Given the description of an element on the screen output the (x, y) to click on. 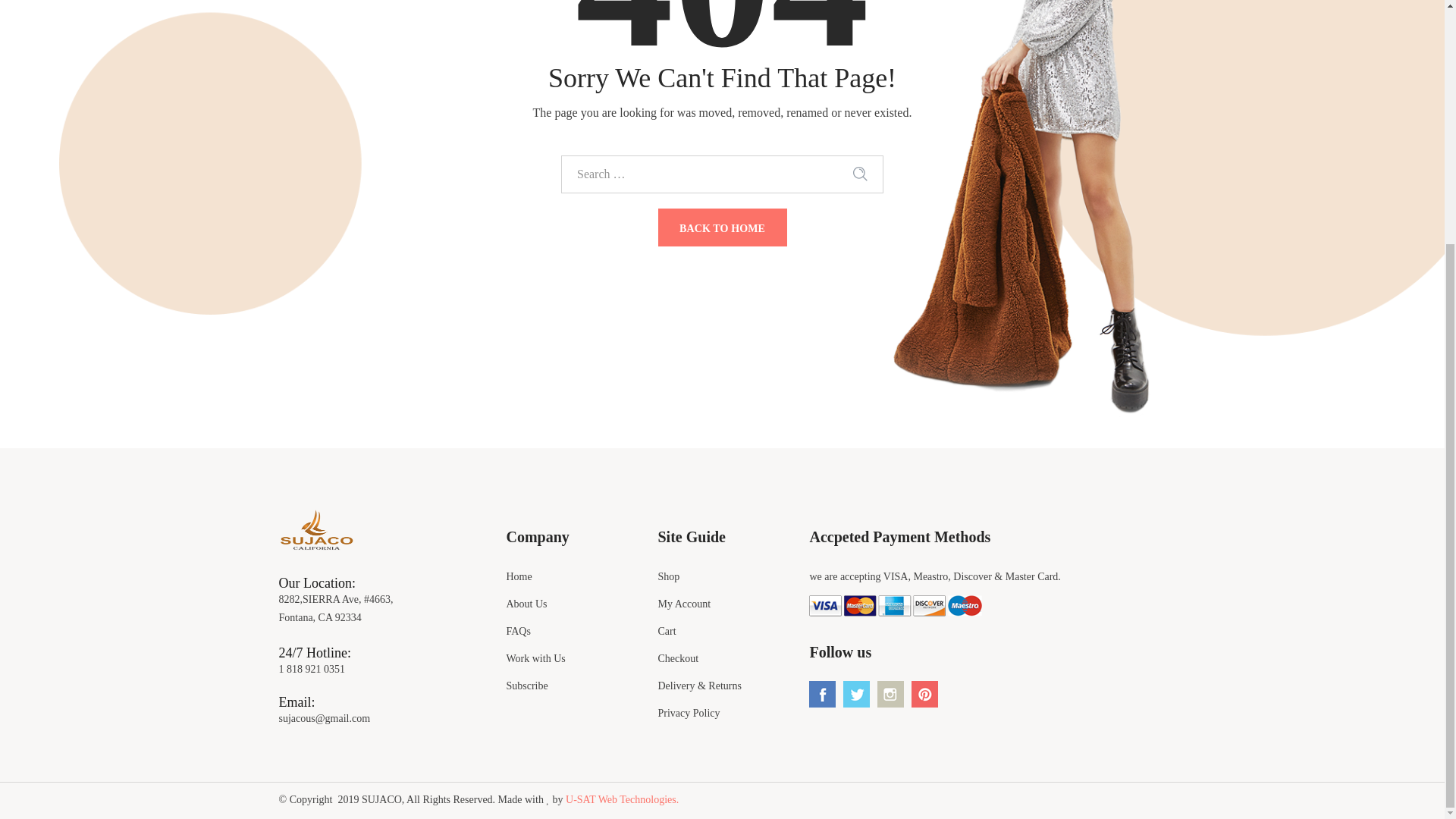
Pinterest (926, 686)
Instagram (892, 686)
Twitter (858, 686)
Twitter (856, 693)
Facebook (824, 686)
Instagram (890, 693)
Facebook (822, 693)
Pinterest (924, 693)
